Given the description of an element on the screen output the (x, y) to click on. 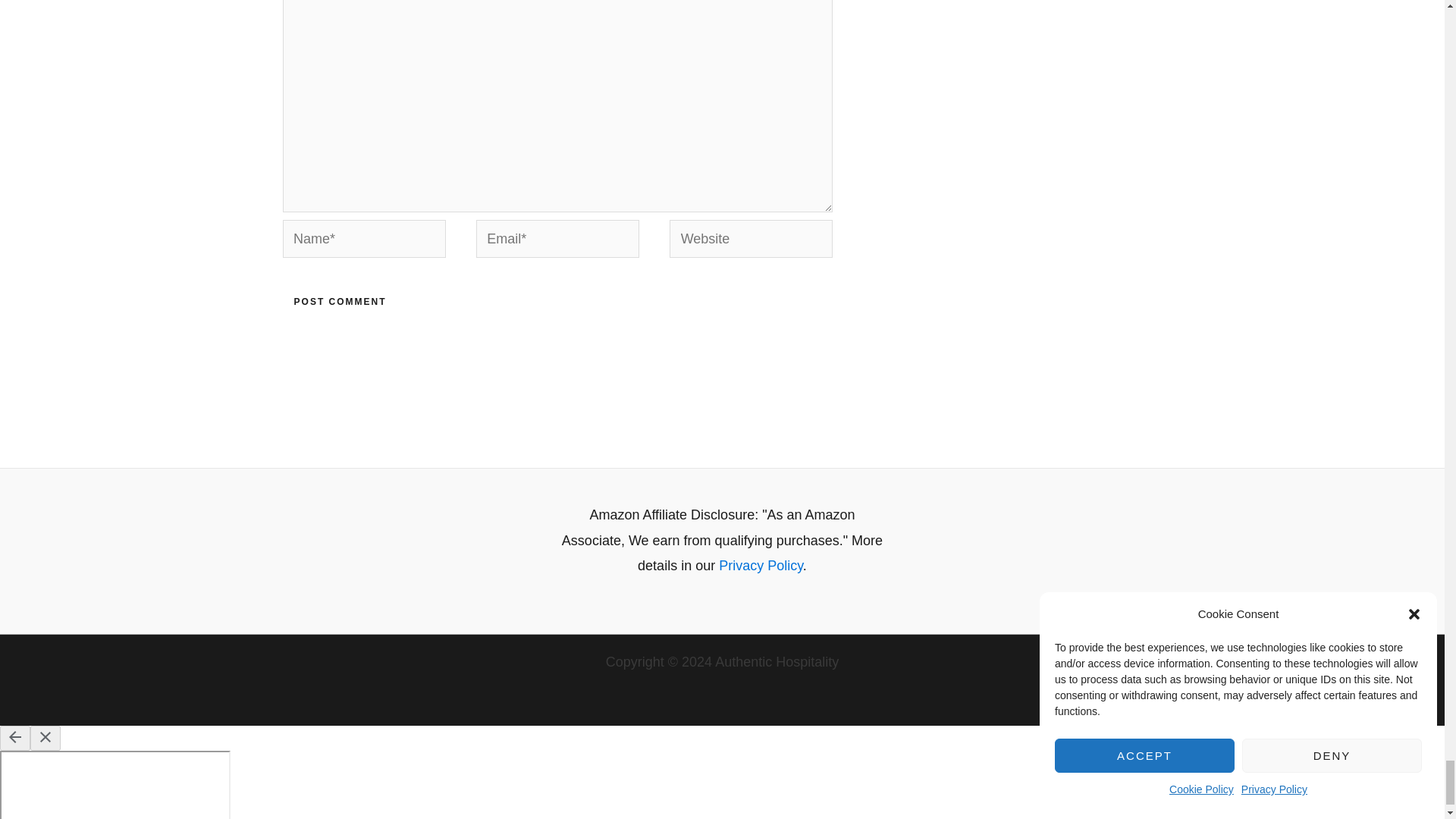
Post Comment (339, 301)
